Given the description of an element on the screen output the (x, y) to click on. 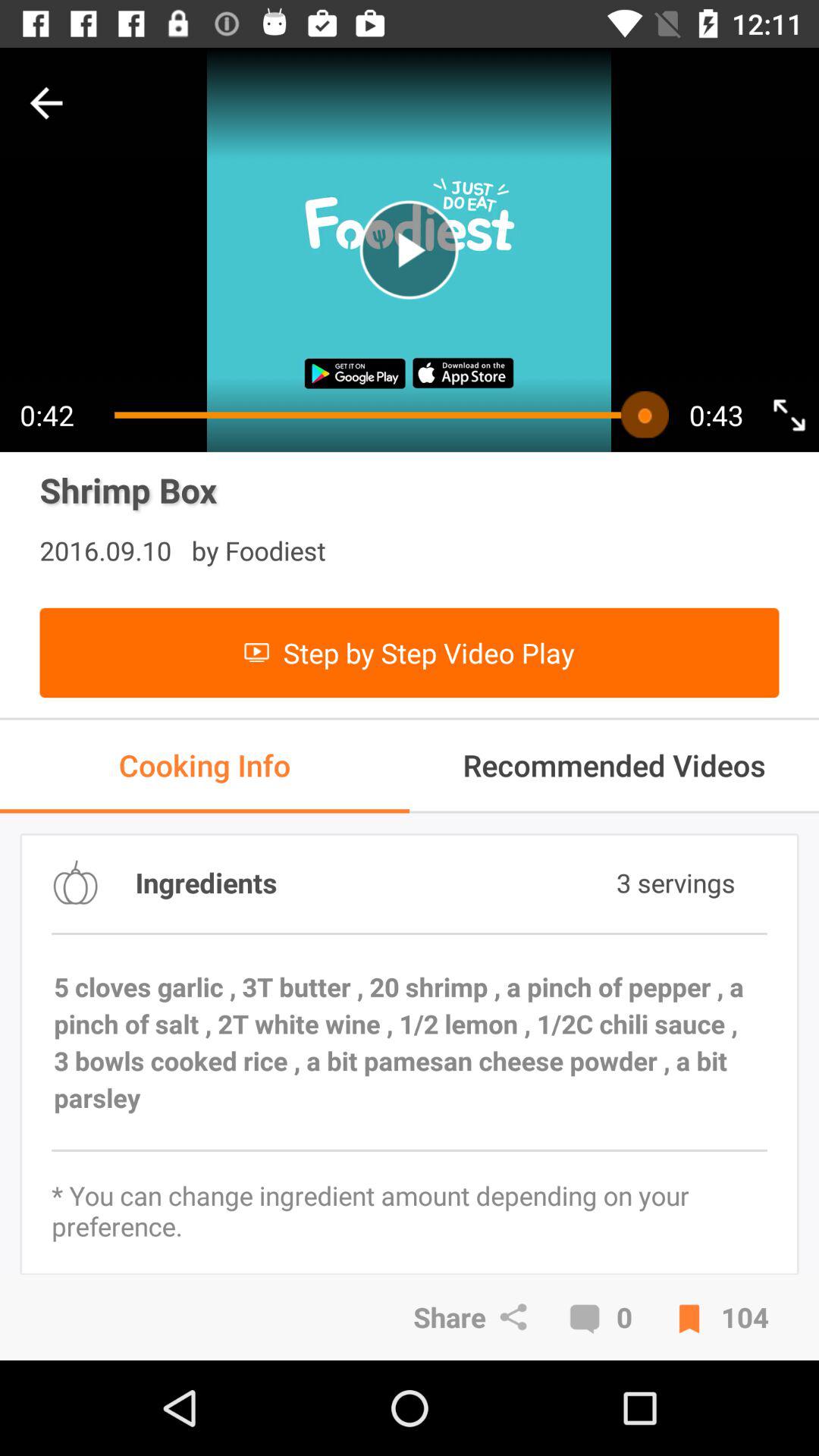
play button (408, 249)
